Given the description of an element on the screen output the (x, y) to click on. 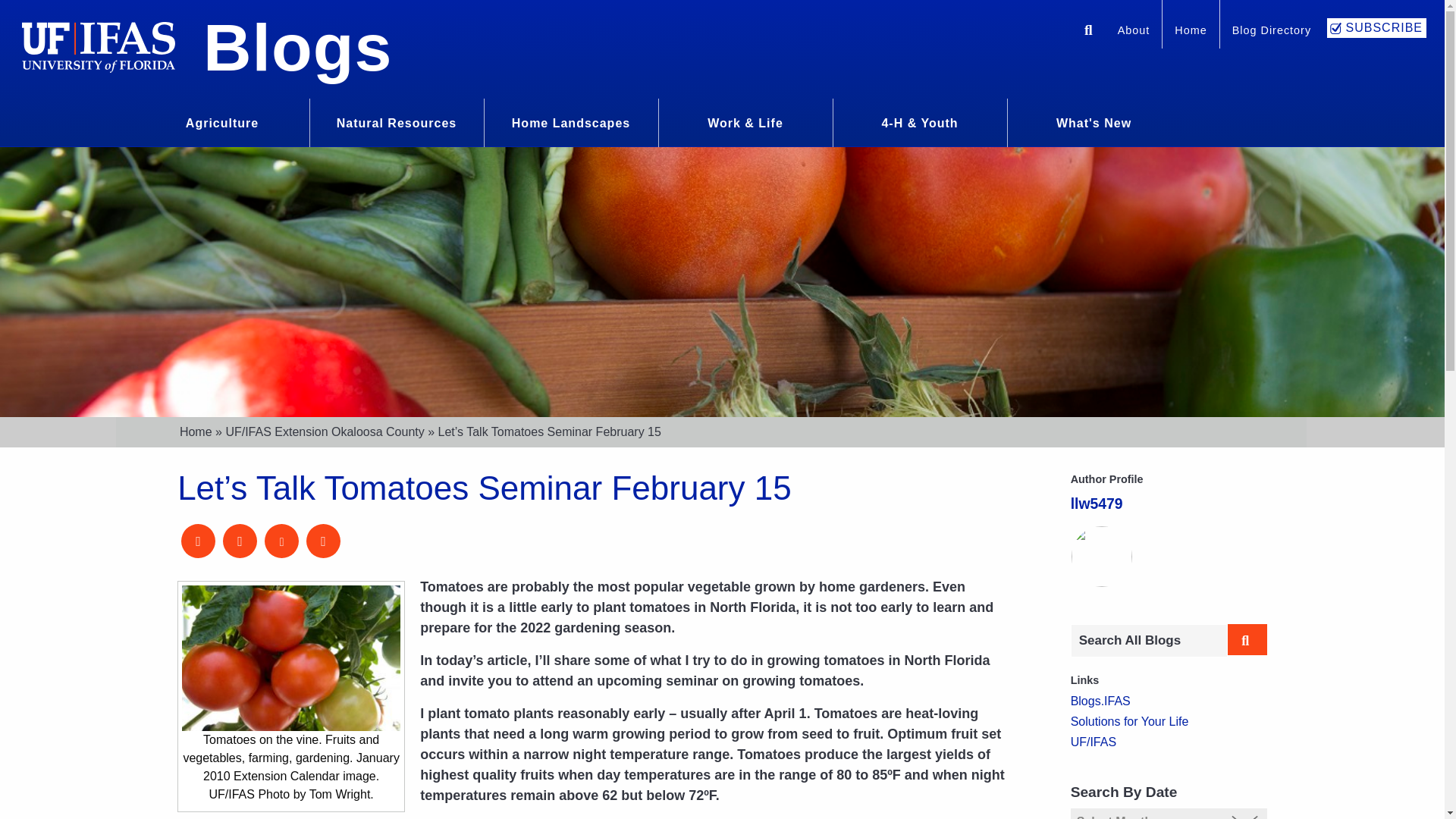
About (1133, 32)
Search All Blogs (1148, 640)
Blogs (297, 47)
Natural Resources (396, 121)
Agriculture (221, 121)
Home Landscapes (571, 121)
SUBSCRIBE (1376, 27)
Blog Directory (1271, 32)
Home (1189, 32)
